Given the description of an element on the screen output the (x, y) to click on. 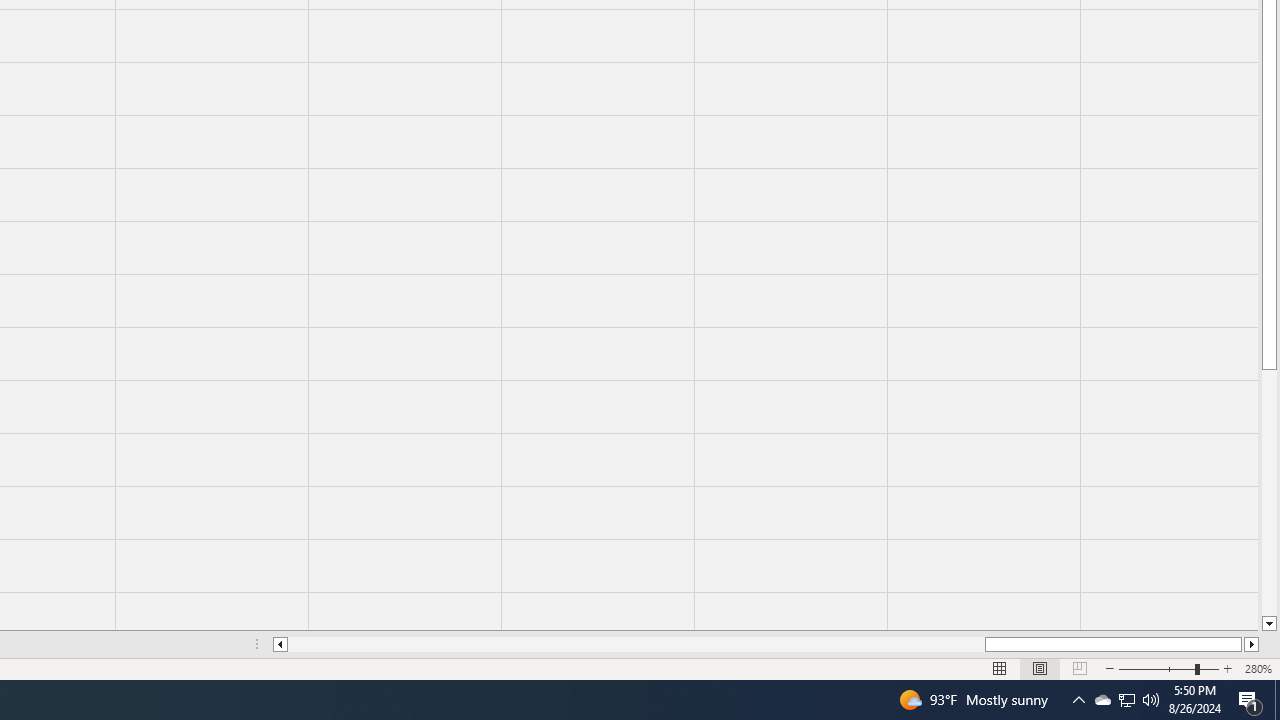
Page left (636, 644)
